Given the description of an element on the screen output the (x, y) to click on. 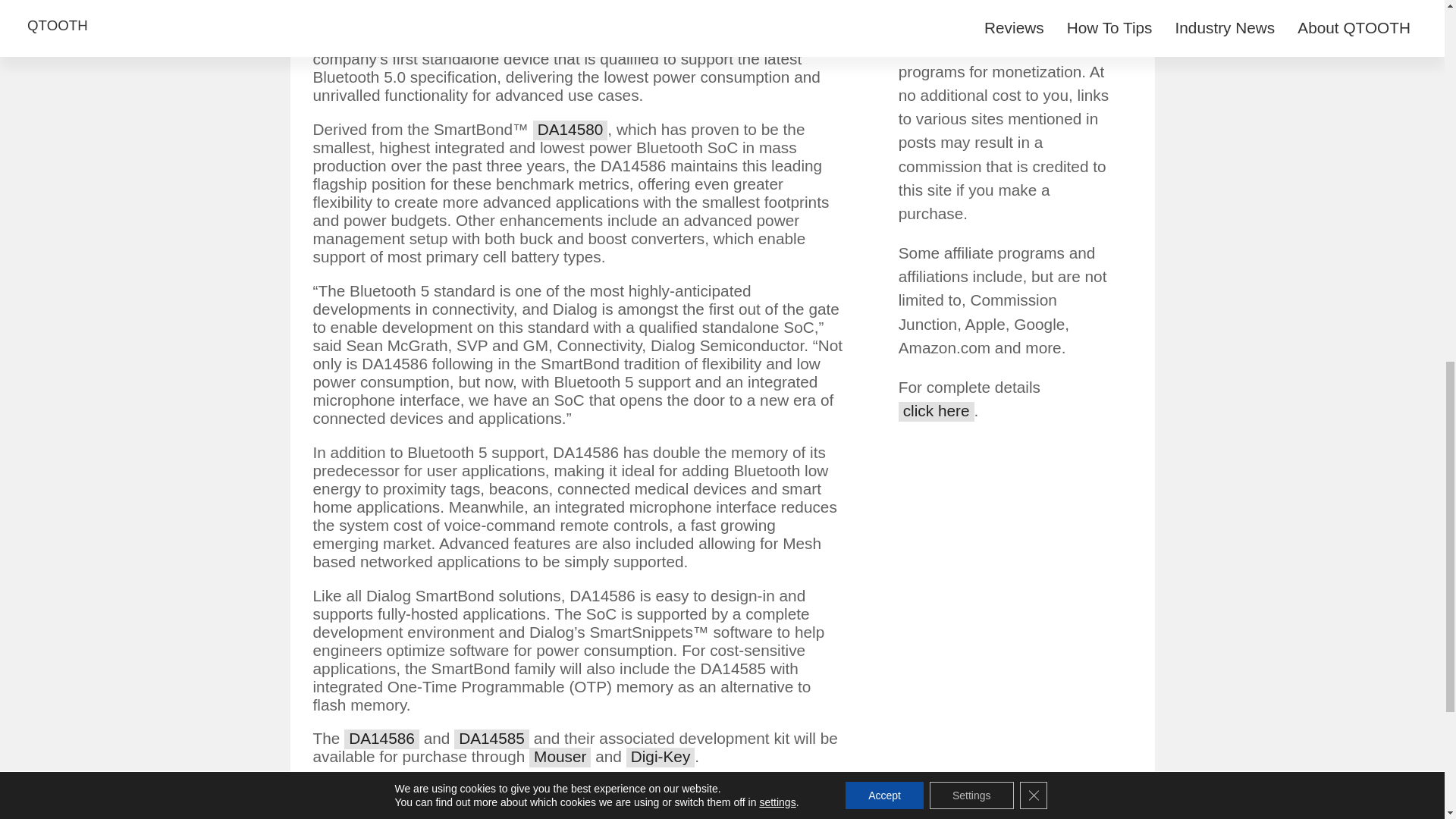
Mouser (560, 757)
DA14580 (570, 130)
Digi-Key (660, 757)
SmartBond (356, 41)
Bluetooth World (445, 809)
DA14585 (491, 739)
DA14586 (381, 739)
DA14586 (501, 41)
click here (936, 411)
